Given the description of an element on the screen output the (x, y) to click on. 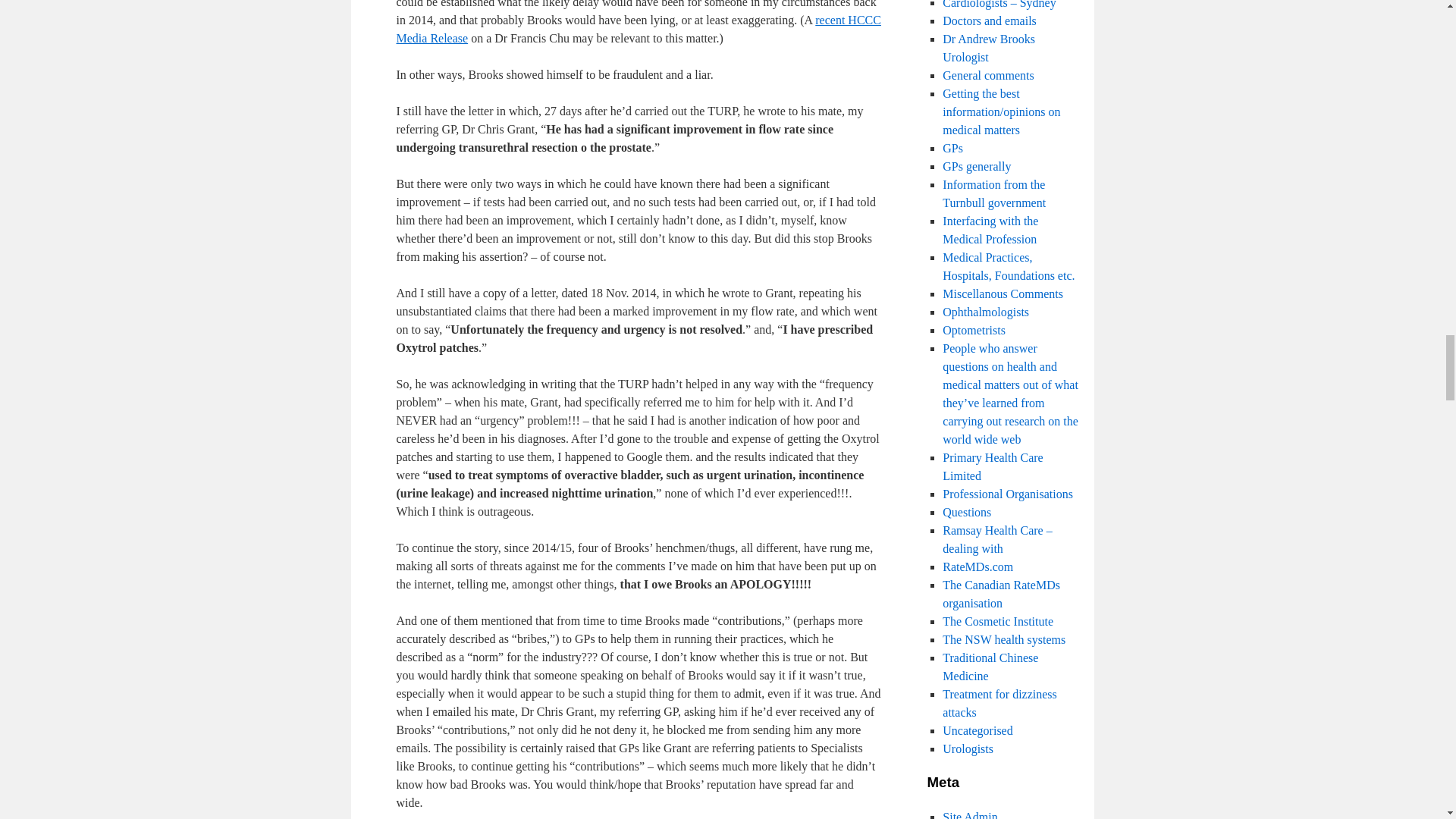
recent HCCC Media Release (638, 29)
